Given the description of an element on the screen output the (x, y) to click on. 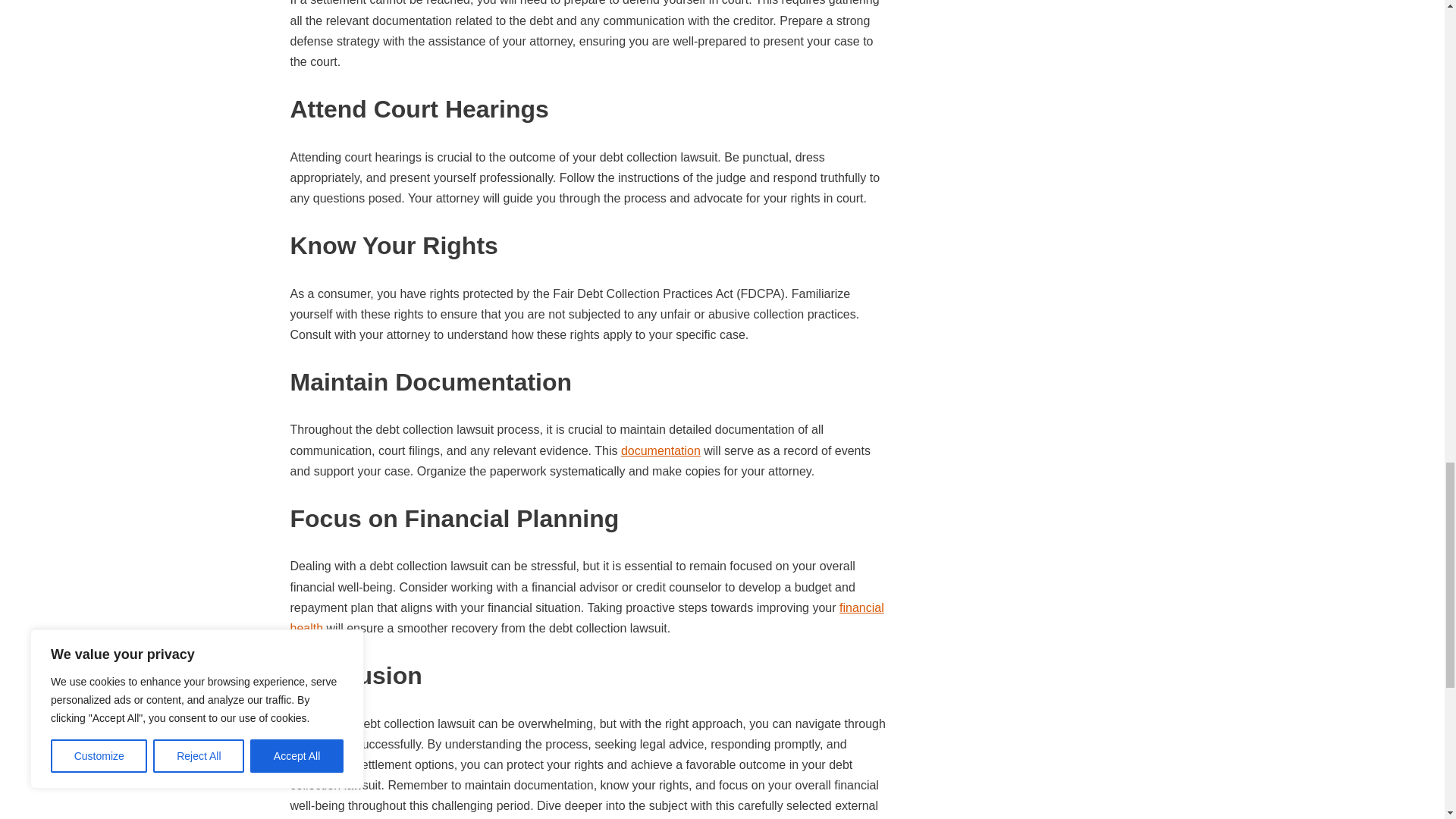
documentation (660, 450)
financial health (586, 617)
